Given the description of an element on the screen output the (x, y) to click on. 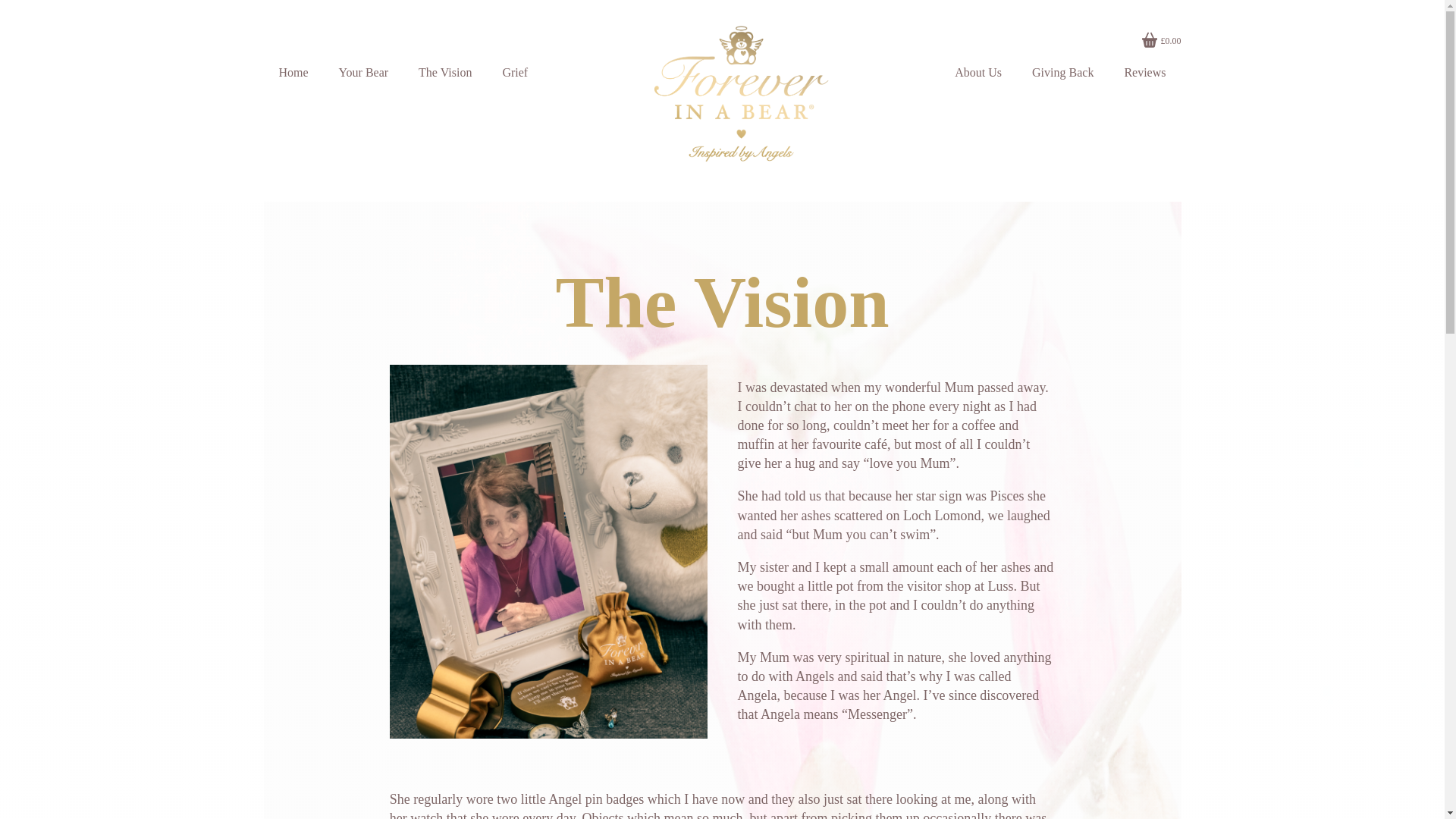
Grief (514, 72)
Home (293, 72)
Reviews (1144, 72)
The Vision (444, 72)
Your Bear (363, 72)
About Us (977, 72)
Giving Back (1062, 72)
